Given the description of an element on the screen output the (x, y) to click on. 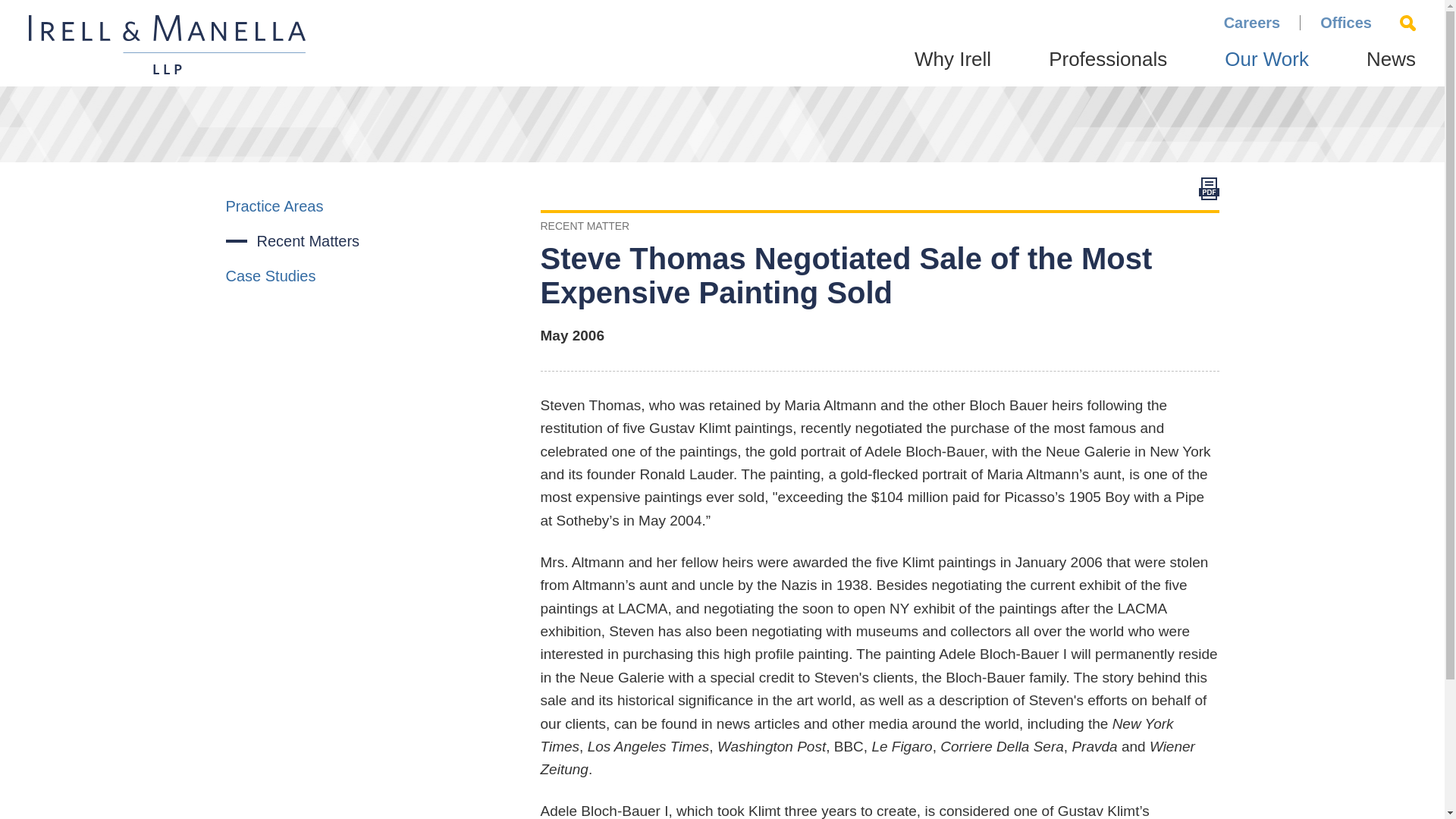
Menu (674, 19)
Why Irell (952, 66)
Our Work (1267, 66)
Main Content (667, 19)
Main Menu (674, 19)
Professionals (1107, 66)
